Given the description of an element on the screen output the (x, y) to click on. 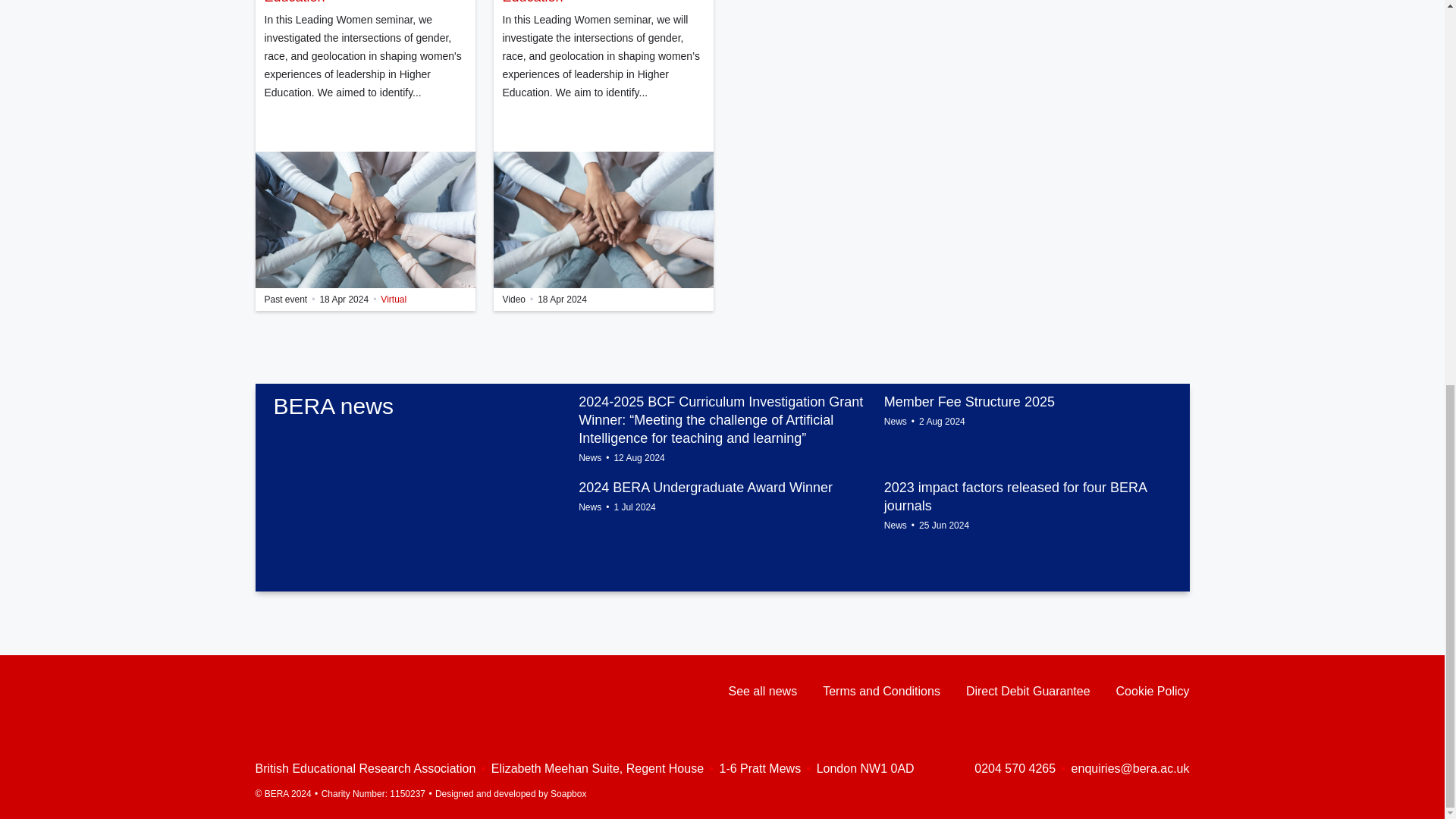
Cookie Policy (1152, 691)
Leading Women in Higher Education (364, 219)
YouTube (321, 690)
Direct Debit Guarantee (1028, 691)
Leading Women in Higher Education (364, 2)
Leading Women in Higher Education (602, 2)
See all news (762, 691)
Twitter (290, 691)
Leading Women in Higher Education (603, 219)
Terms and Conditions (881, 691)
